Given the description of an element on the screen output the (x, y) to click on. 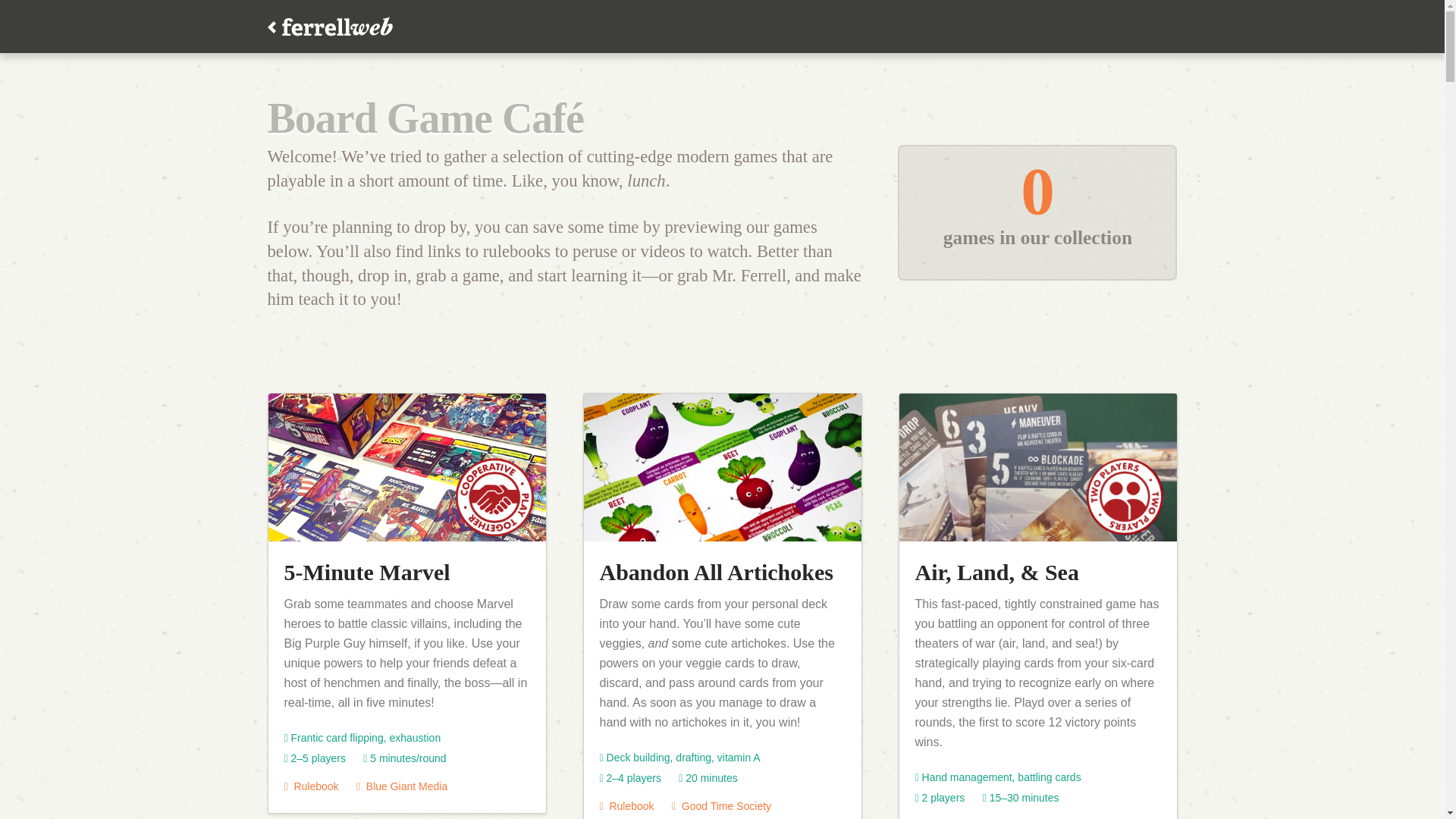
Abandon All Artichokes (715, 571)
  Good Time Society (721, 806)
  Rulebook (310, 786)
  Rulebook (625, 806)
  Blue Giant Media (401, 786)
